Given the description of an element on the screen output the (x, y) to click on. 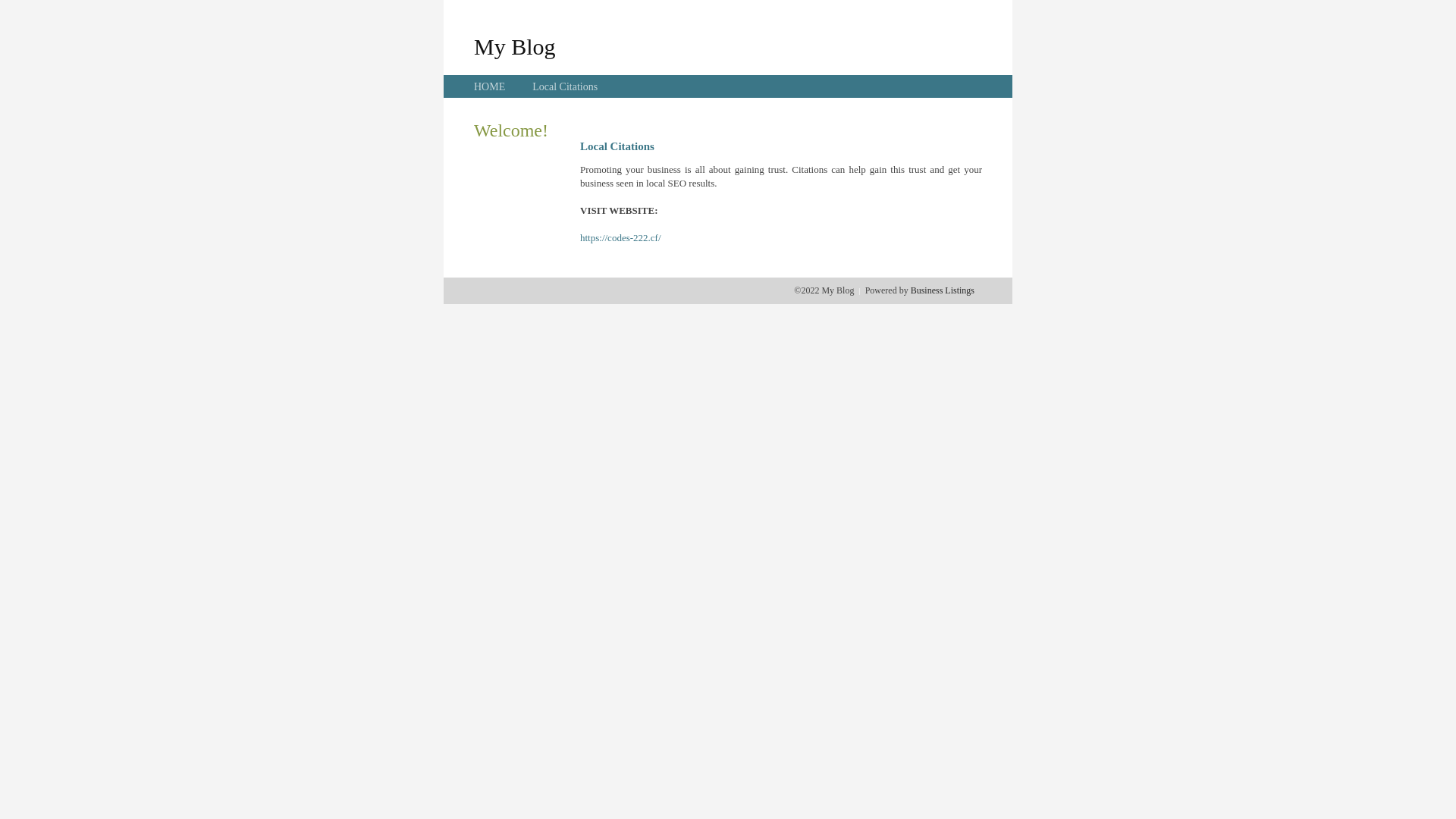
https://codes-222.cf/ Element type: text (620, 237)
Business Listings Element type: text (942, 290)
My Blog Element type: text (514, 46)
Local Citations Element type: text (564, 86)
HOME Element type: text (489, 86)
